Given the description of an element on the screen output the (x, y) to click on. 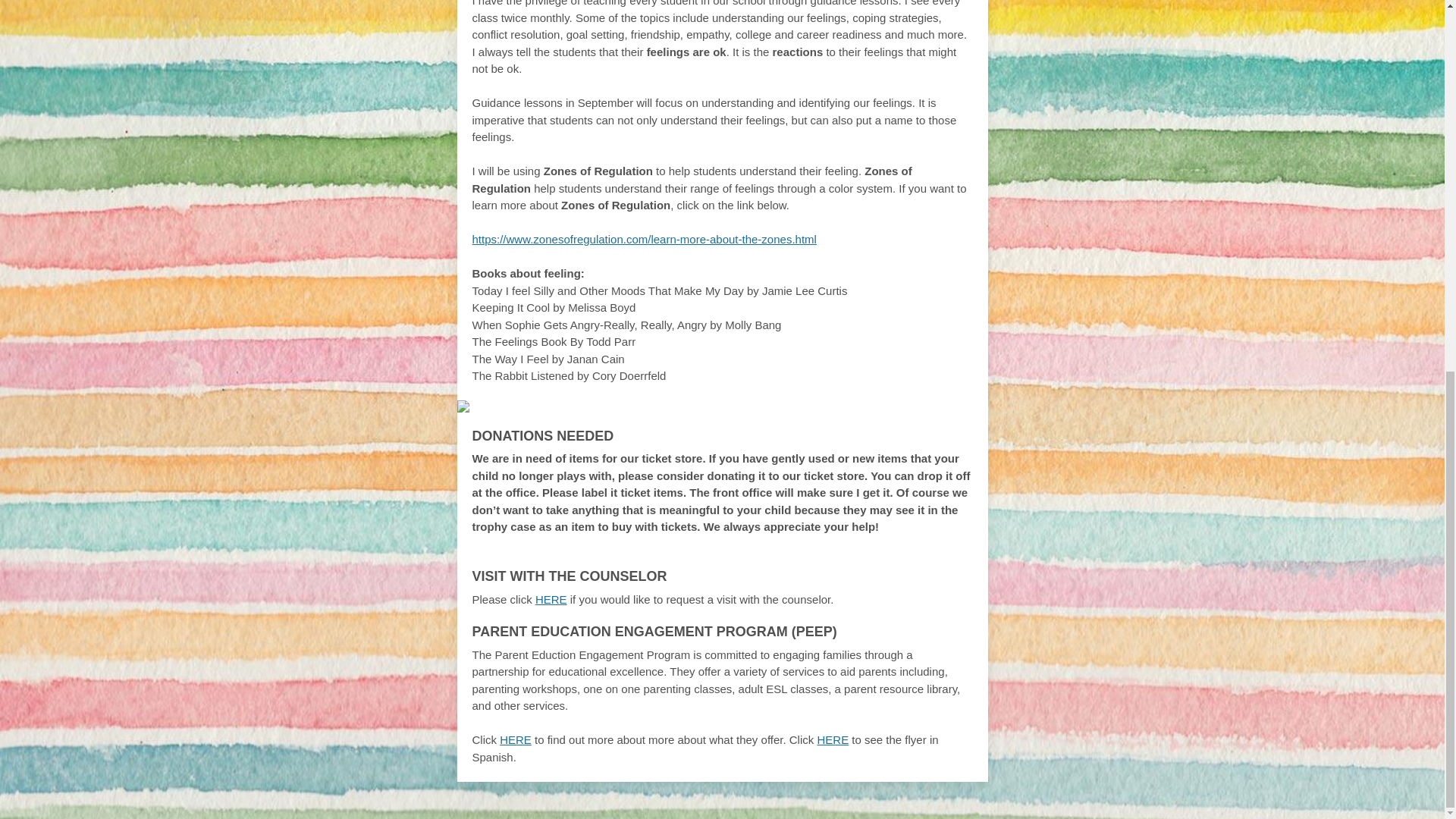
HERE (515, 739)
HERE (551, 599)
HERE (832, 739)
